Given the description of an element on the screen output the (x, y) to click on. 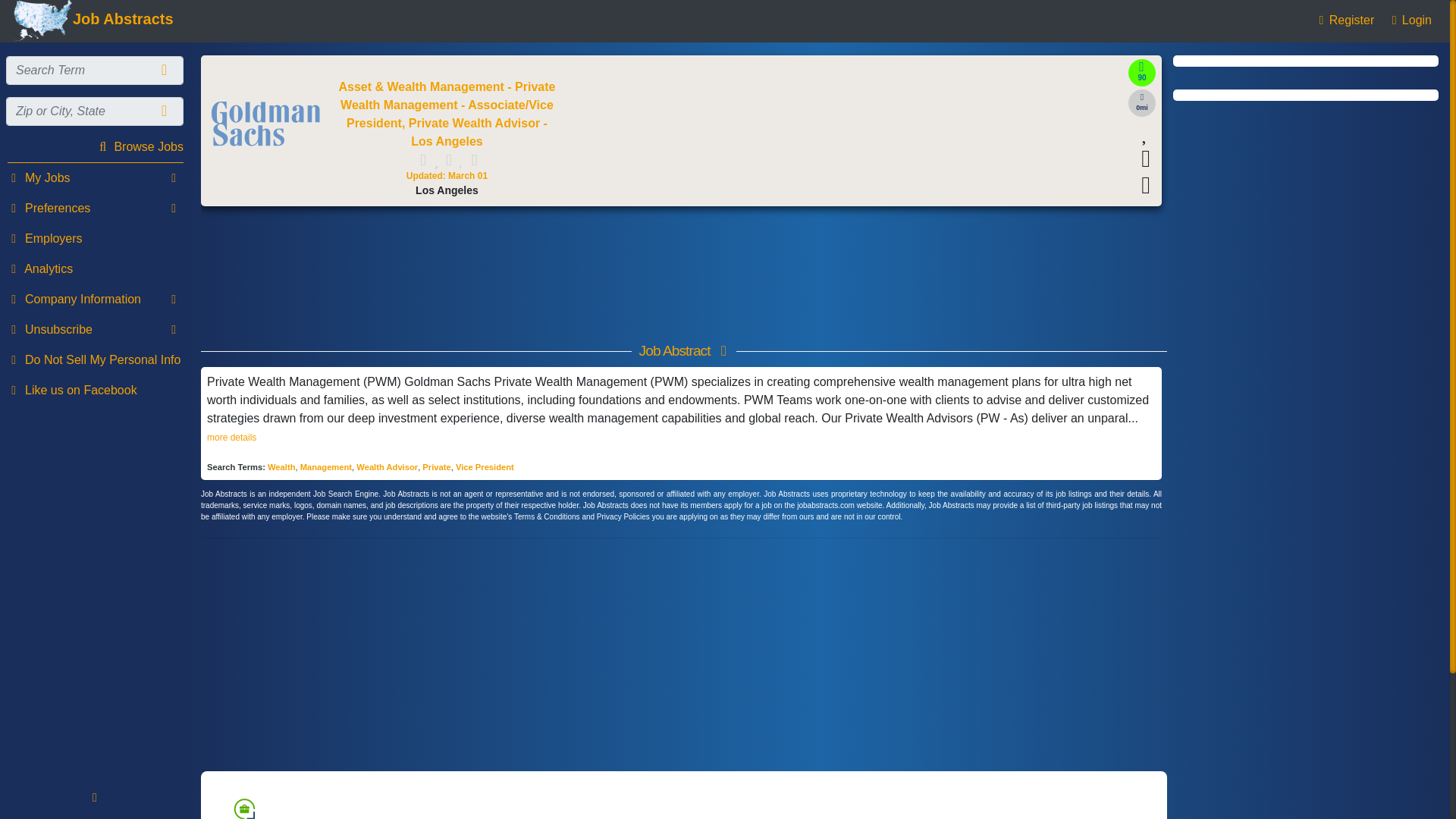
Management (325, 466)
Preferences (94, 208)
Company Information (94, 299)
Login (1409, 20)
Private (435, 466)
Register (1343, 20)
Unsubscribe (94, 329)
Do Not Sell My Personal Info (94, 359)
Analytics (94, 268)
Employers (94, 238)
